Given the description of an element on the screen output the (x, y) to click on. 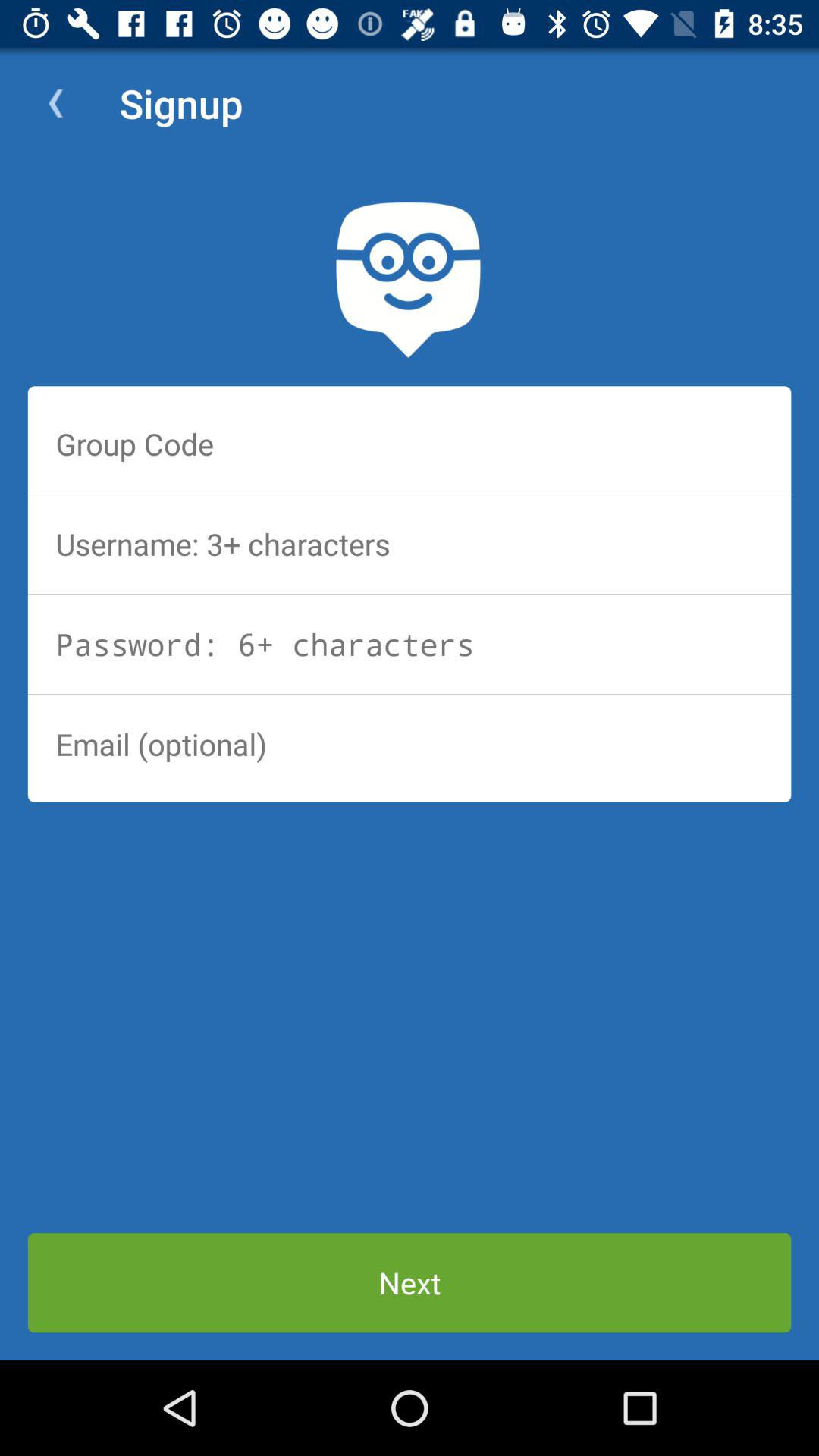
username field (409, 543)
